Given the description of an element on the screen output the (x, y) to click on. 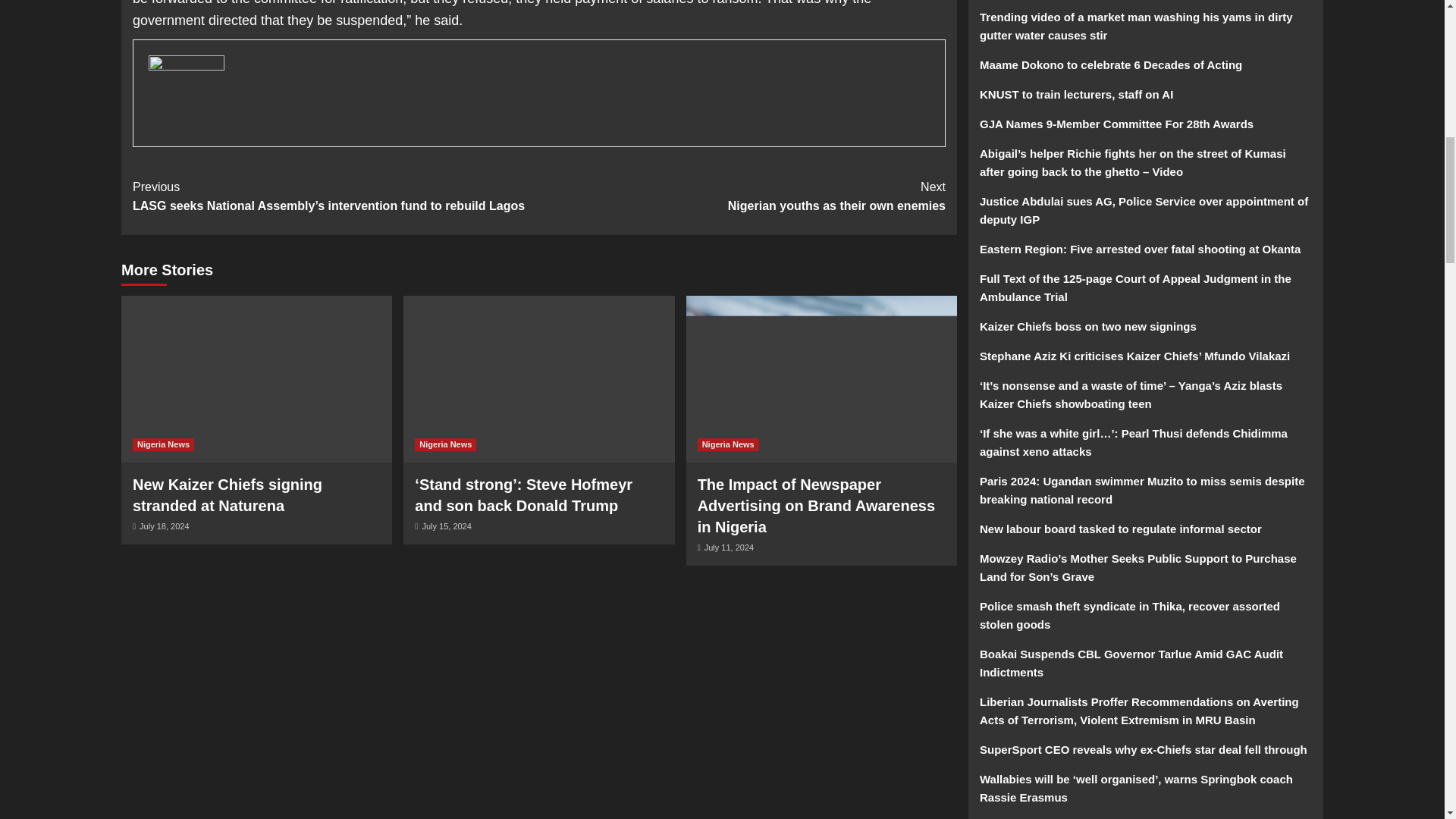
New Kaizer Chiefs signing stranded at Naturena (741, 196)
July 18, 2024 (226, 494)
July 15, 2024 (164, 525)
Nigeria News (446, 525)
Nigeria News (445, 444)
